Given the description of an element on the screen output the (x, y) to click on. 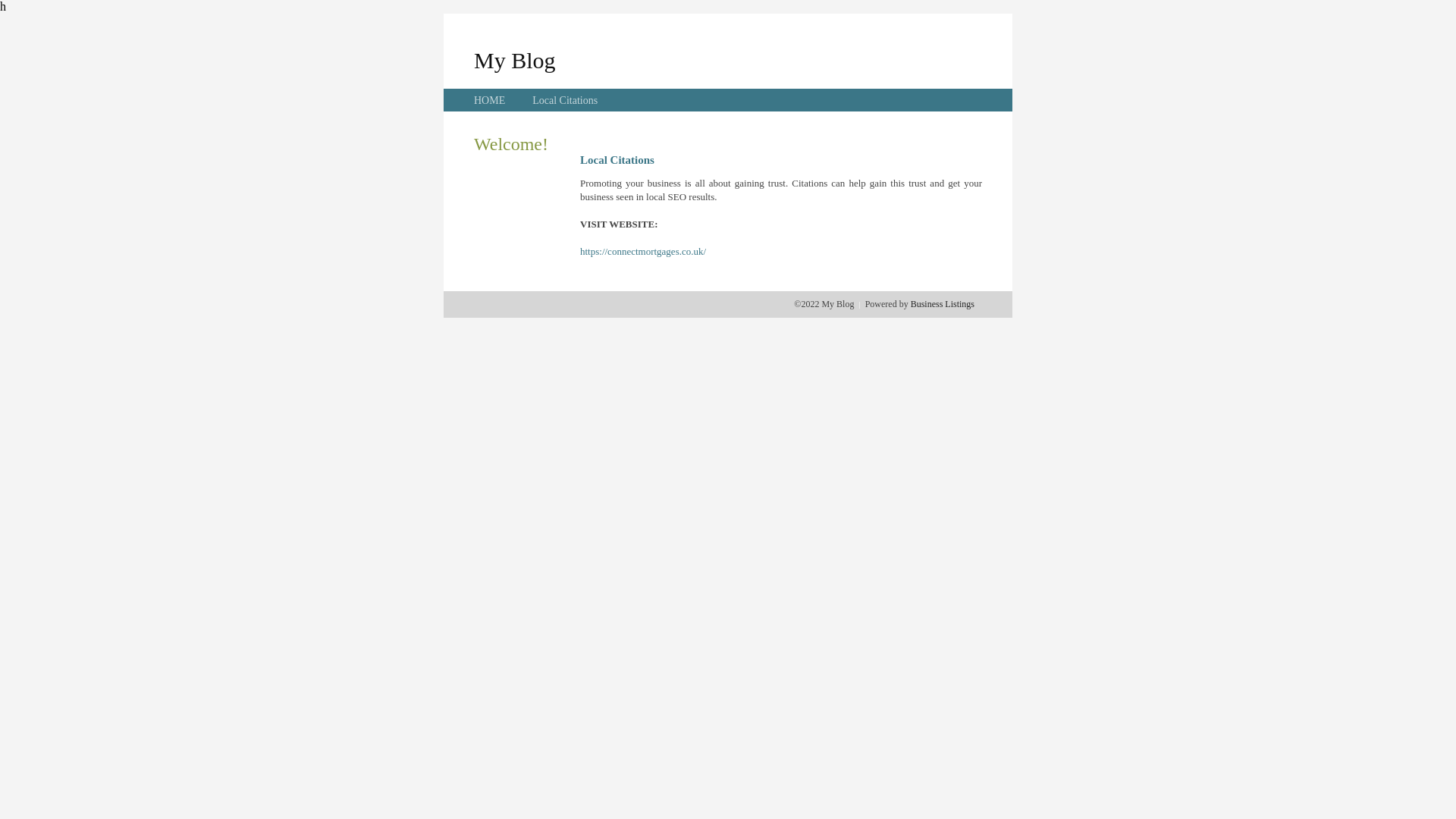
Local Citations Element type: text (564, 100)
My Blog Element type: text (514, 59)
Business Listings Element type: text (942, 303)
https://connectmortgages.co.uk/ Element type: text (643, 251)
HOME Element type: text (489, 100)
